Given the description of an element on the screen output the (x, y) to click on. 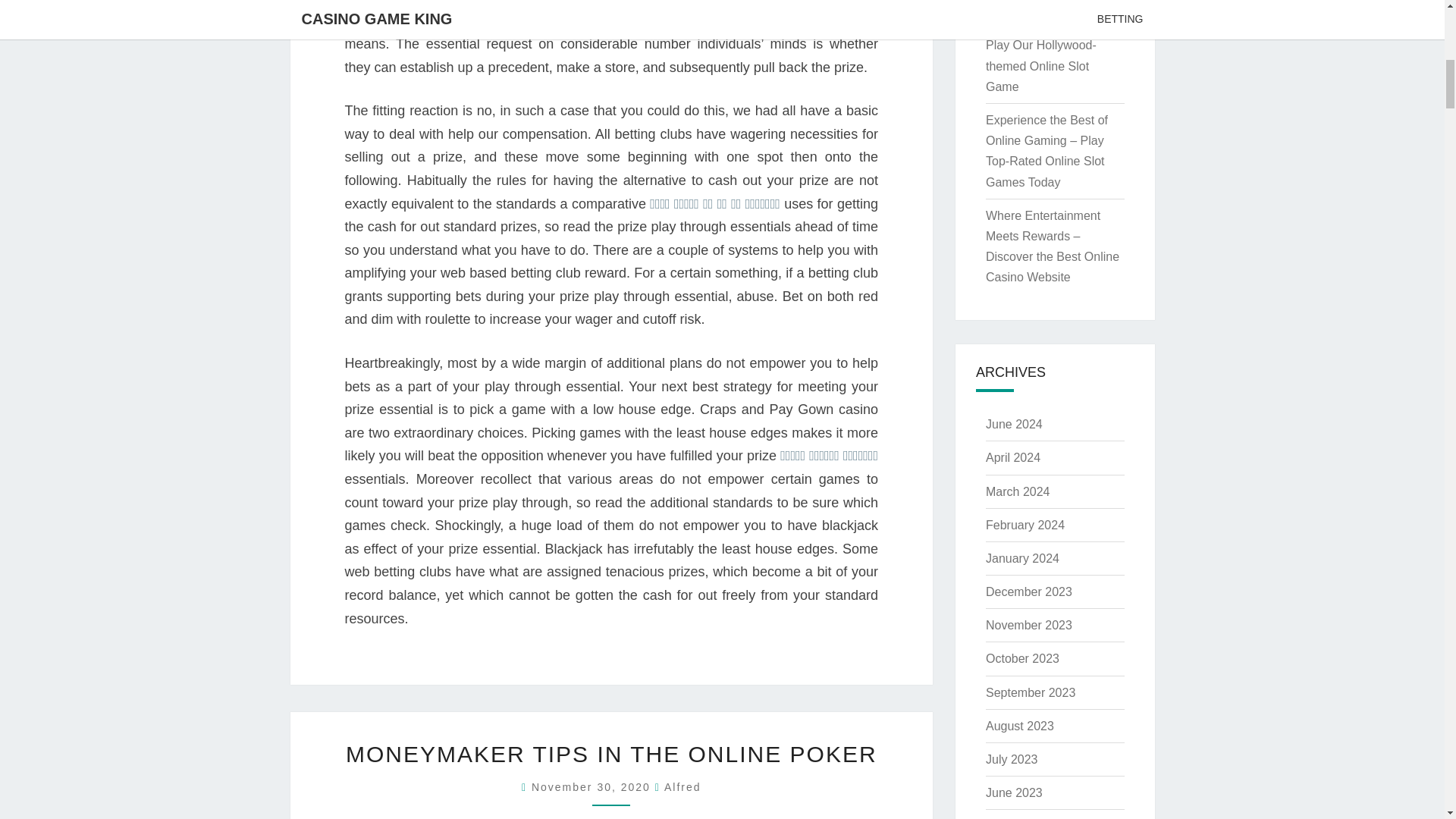
MONEYMAKER TIPS IN THE ONLINE POKER (611, 754)
Alfred (682, 787)
View all posts by Alfred (682, 787)
November 30, 2020 (593, 787)
7:19 am (593, 787)
